Given the description of an element on the screen output the (x, y) to click on. 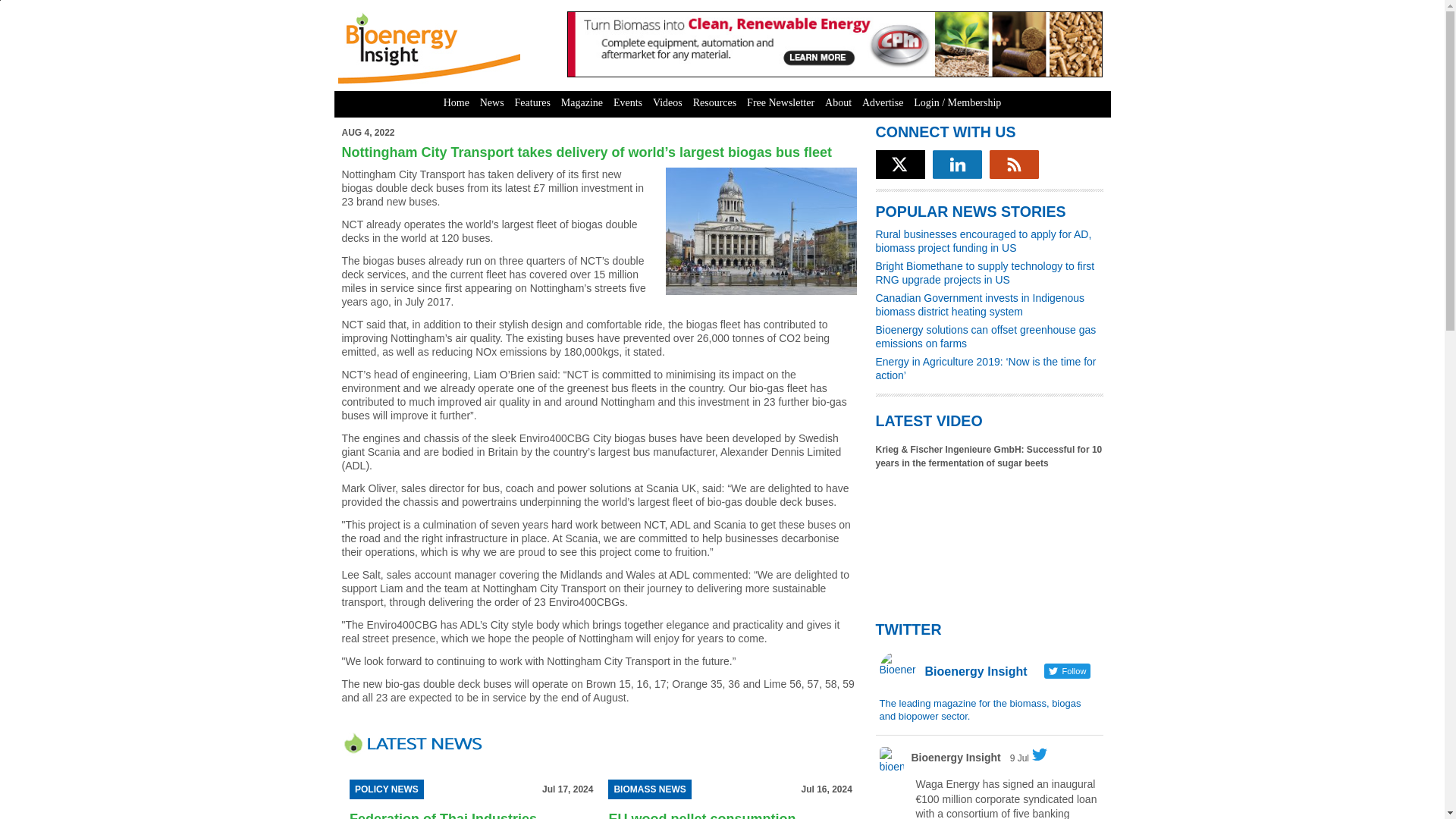
Features (532, 102)
Magazine (582, 102)
Free Newsletter (780, 102)
Resources (714, 102)
Advertise (883, 102)
Videos (667, 102)
